Given the description of an element on the screen output the (x, y) to click on. 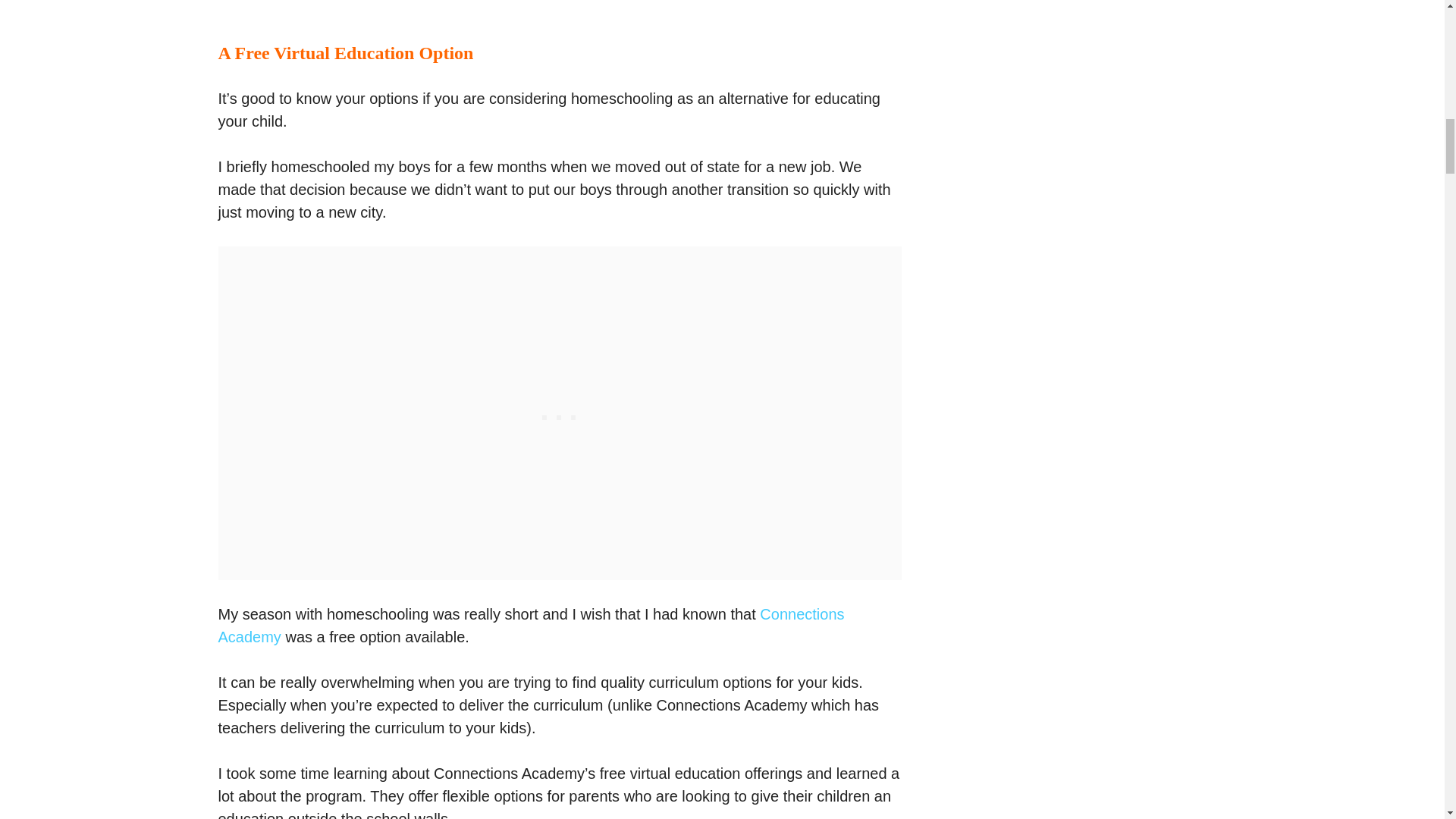
Connections Academy  (559, 9)
Connections Academy (531, 625)
